Given the description of an element on the screen output the (x, y) to click on. 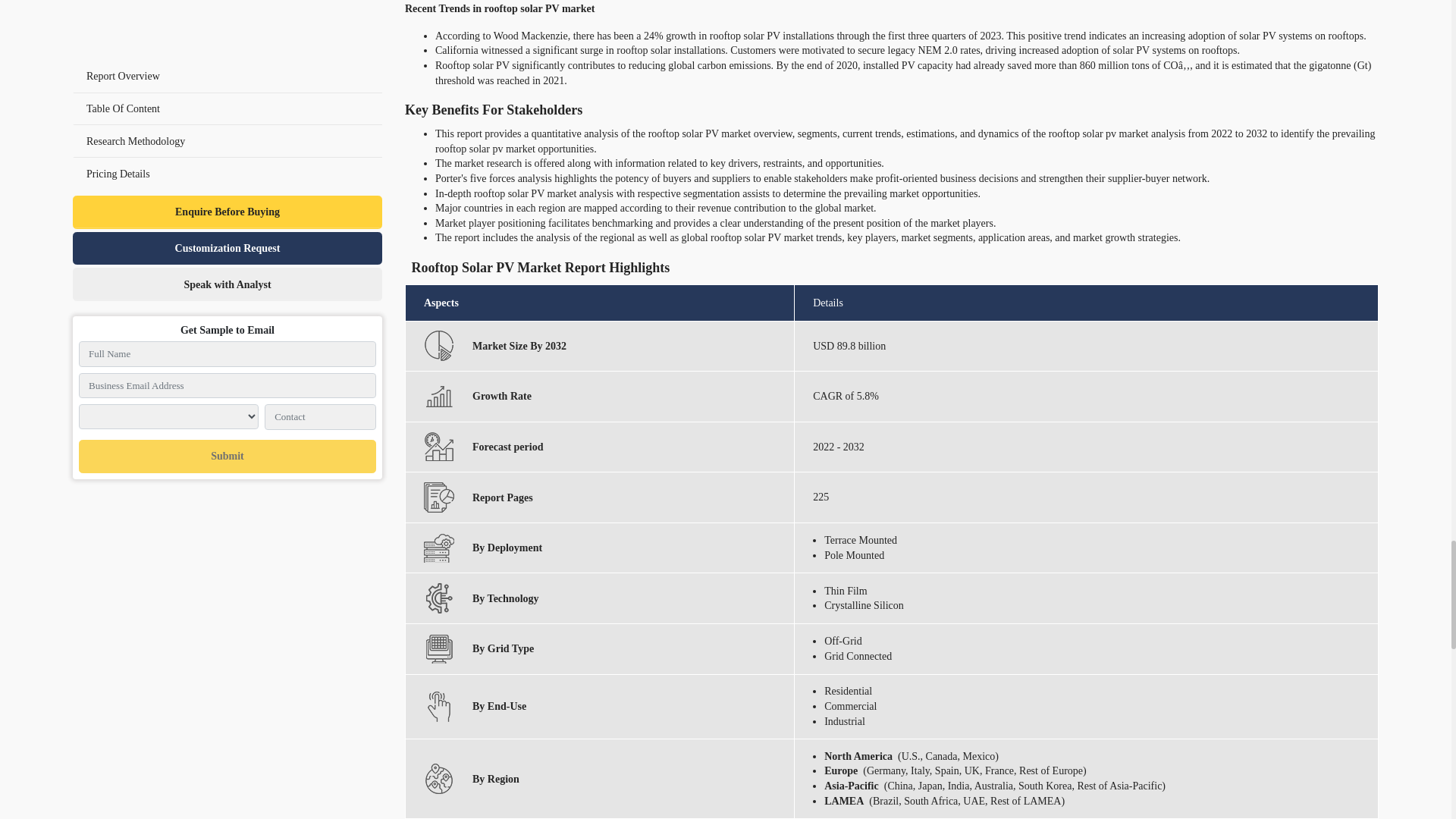
Market Size By 2032 (438, 345)
Forecast period (438, 446)
Rooftop Solar PV Market By Technology (438, 598)
Rooftop Solar PV Market By End-Use (438, 706)
Growth Rate (438, 396)
Report Pages (438, 497)
Rooftop Solar PV Market By Grid Type (438, 648)
Rooftop Solar PV Market By Deployment (438, 548)
